Given the description of an element on the screen output the (x, y) to click on. 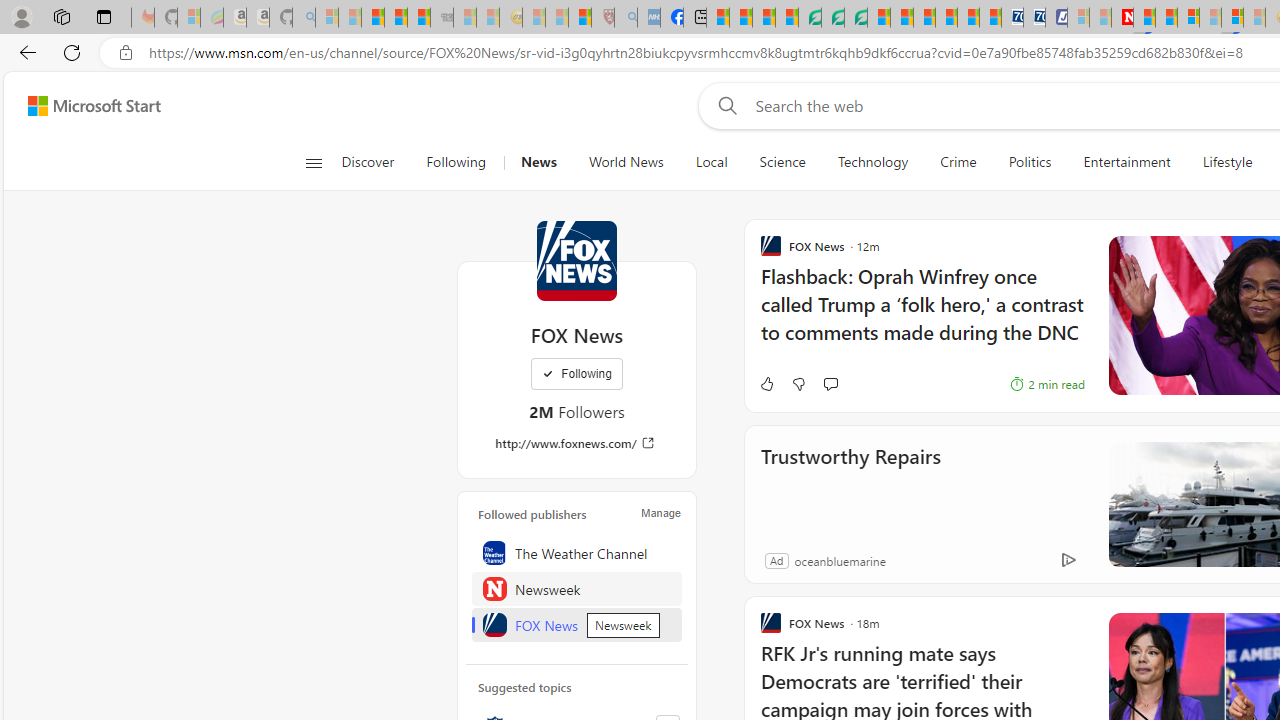
The Weather Channel (577, 552)
